Given the description of an element on the screen output the (x, y) to click on. 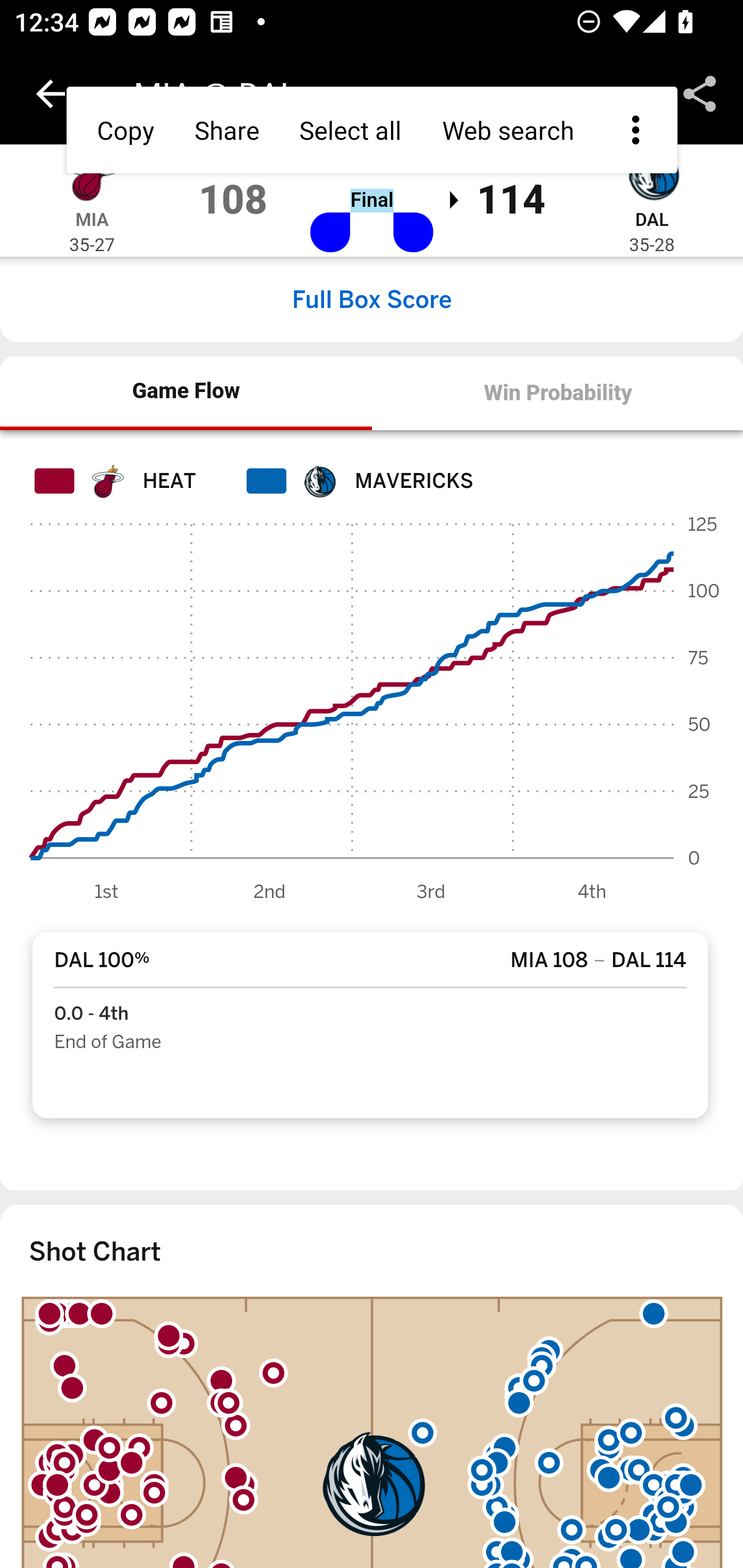
Navigate up (50, 93)
Share (699, 93)
MIA (91, 219)
DAL (651, 219)
Full Box Score (371, 299)
Game Flow (186, 391)
Win Probability (557, 393)
Heat (106, 481)
#0064b1 (318, 481)
